Given the description of an element on the screen output the (x, y) to click on. 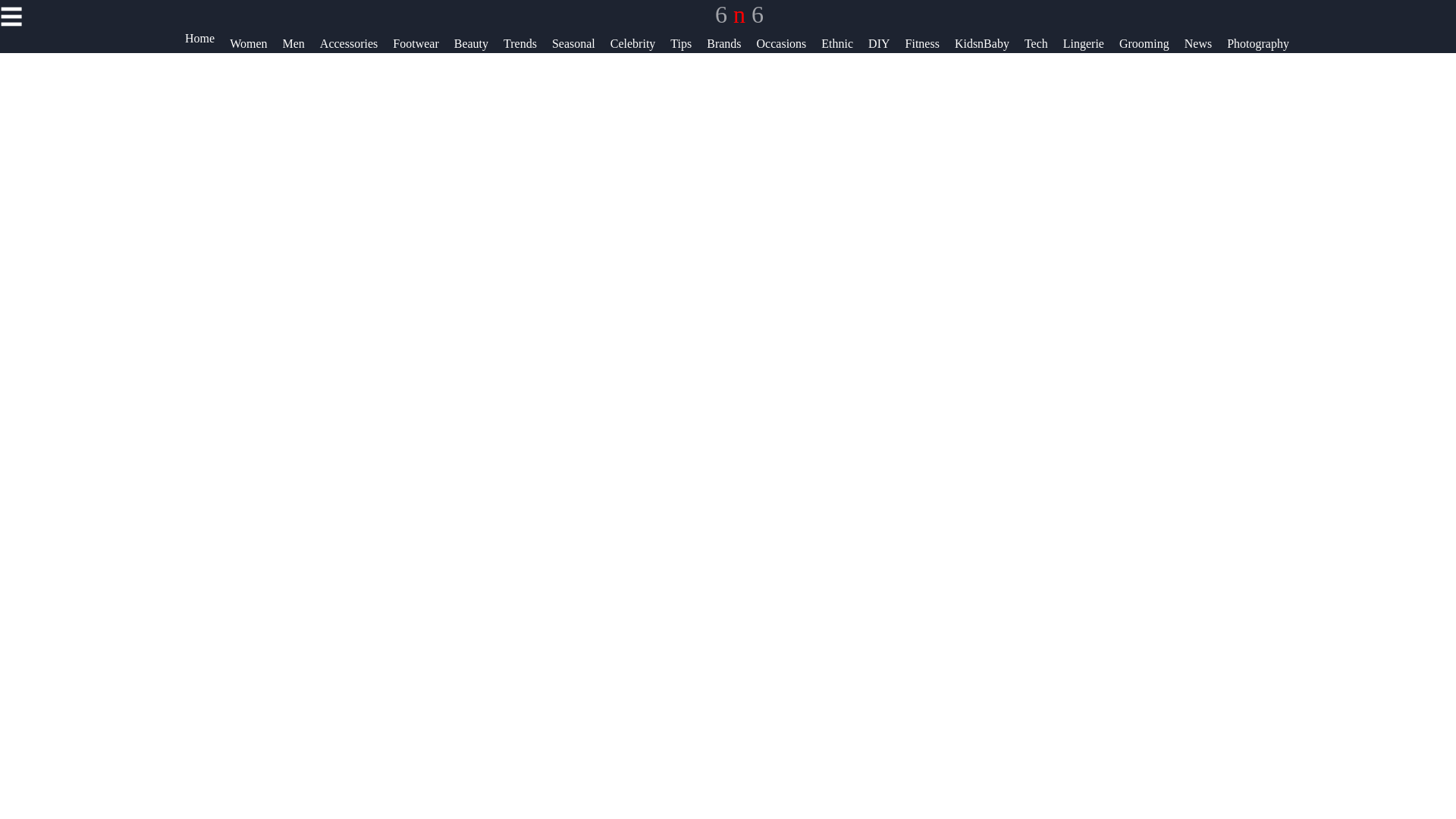
6 n 6 (738, 13)
